Given the description of an element on the screen output the (x, y) to click on. 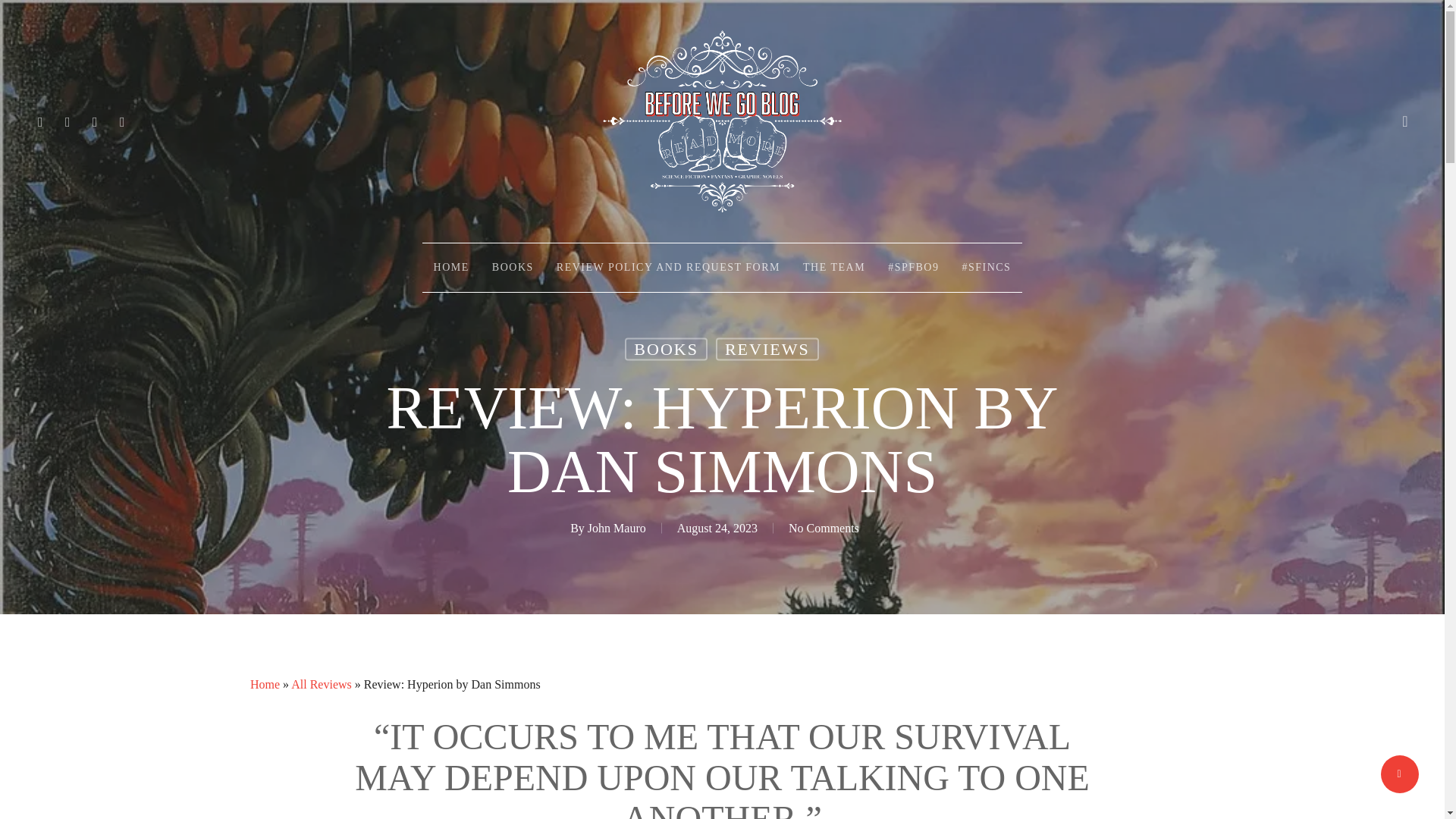
FACEBOOK (68, 121)
All Reviews (321, 684)
THE TEAM (834, 267)
PINTEREST (95, 121)
BOOKS (512, 267)
Home (264, 684)
BOOKS (665, 349)
REVIEW POLICY AND REQUEST FORM (668, 267)
TWITTER (41, 121)
INSTAGRAM (122, 121)
REVIEWS (767, 349)
John Mauro (617, 527)
HOME (451, 267)
search (1404, 121)
Posts by John Mauro (617, 527)
